Given the description of an element on the screen output the (x, y) to click on. 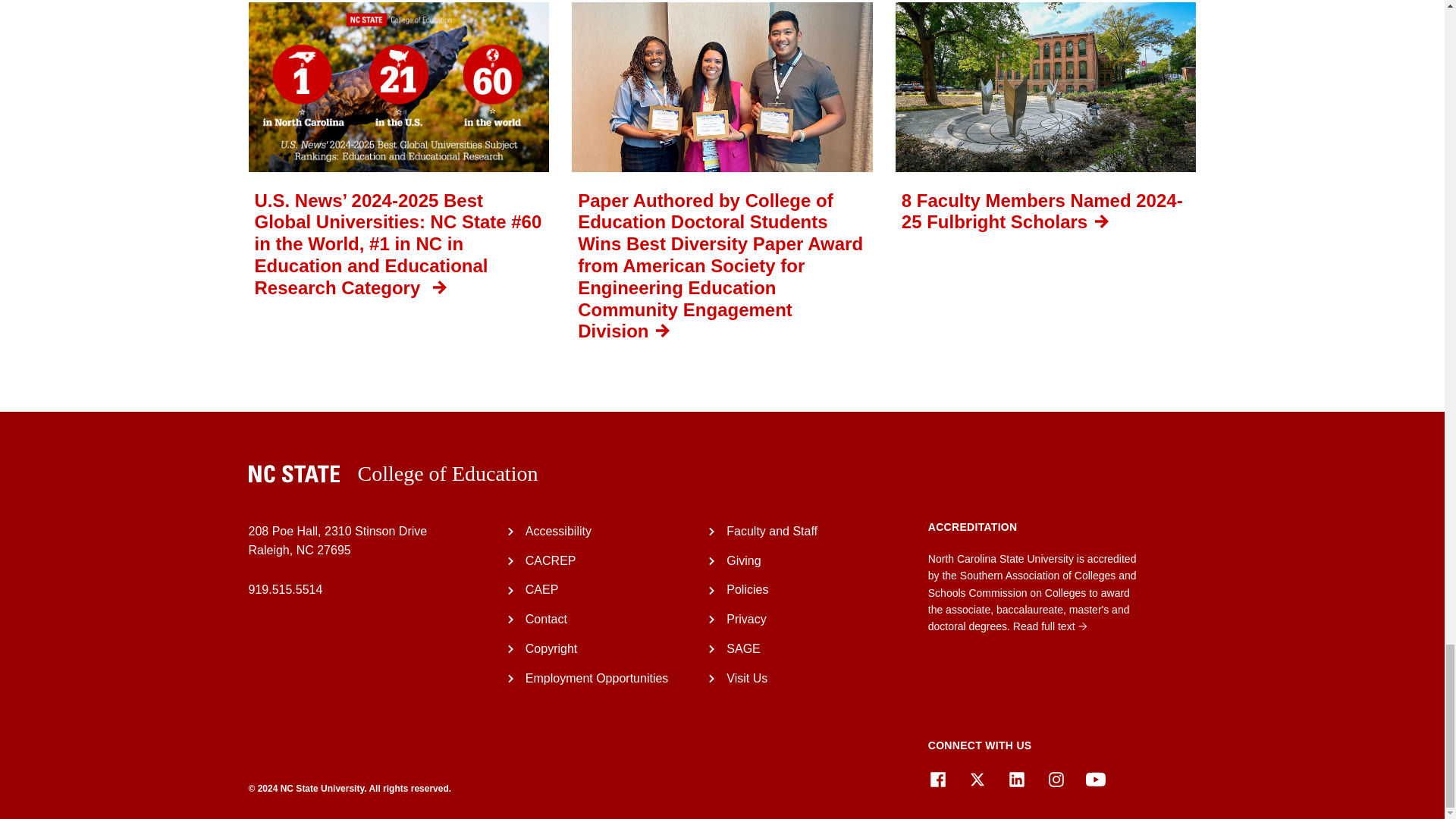
X (977, 779)
YouTube (1095, 779)
LinkedIn (1016, 779)
Facebook (937, 779)
Instagram (1055, 779)
